Given the description of an element on the screen output the (x, y) to click on. 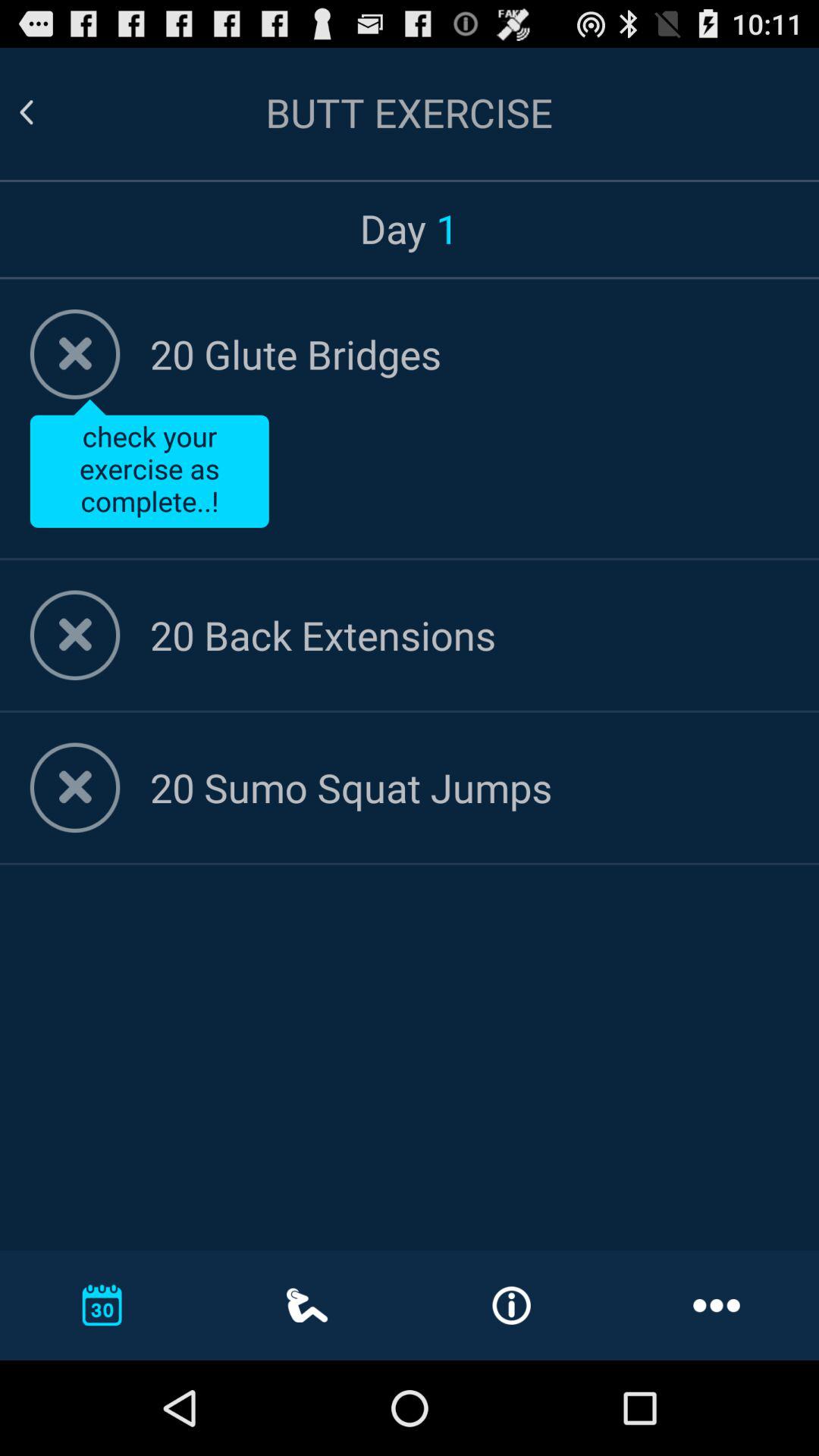
check the sumo squat complete (75, 787)
